Given the description of an element on the screen output the (x, y) to click on. 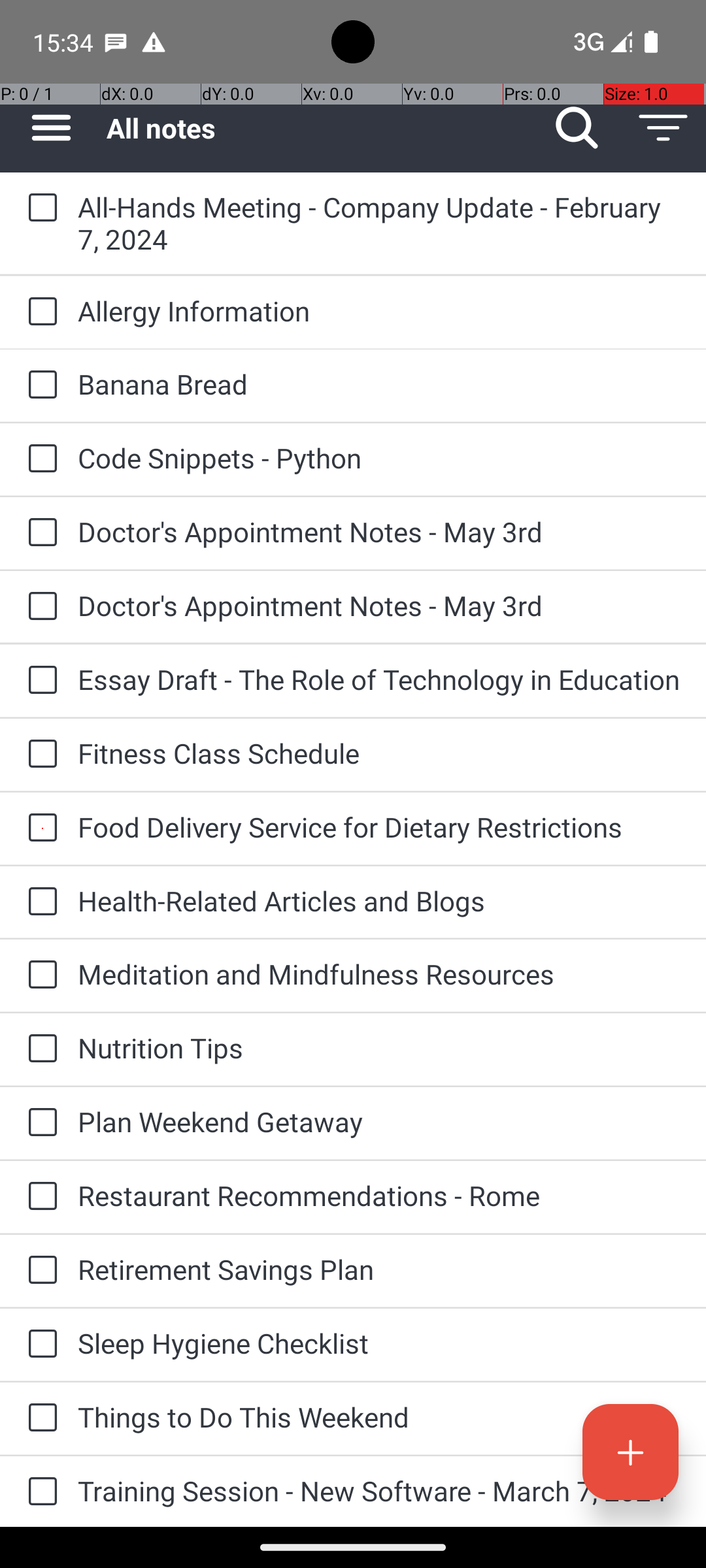
Sidebar Element type: android.widget.Button (44, 127)
All notes Element type: android.widget.TextView (320, 127)
Sort notes by Element type: android.widget.Button (663, 127)
Add new, collapsed Element type: android.widget.Button (630, 1452)
 Element type: android.widget.TextView (51, 127)
 Element type: android.widget.TextView (576, 127)
 Element type: android.widget.TextView (663, 127)
 Element type: android.widget.TextView (630, 1451)
to-do: All-Hands Meeting - Company Update - February 7, 2024 Element type: android.widget.CheckBox (38, 208)
All-Hands Meeting - Company Update - February 7, 2024 Element type: android.widget.TextView (378, 222)
to-do: Allergy Information Element type: android.widget.CheckBox (38, 312)
Allergy Information Element type: android.widget.TextView (378, 310)
to-do: Banana Bread Element type: android.widget.CheckBox (38, 385)
Banana Bread Element type: android.widget.TextView (378, 383)
to-do: Code Snippets - Python Element type: android.widget.CheckBox (38, 459)
Code Snippets - Python Element type: android.widget.TextView (378, 457)
to-do: Doctor's Appointment Notes - May 3rd Element type: android.widget.CheckBox (38, 533)
Doctor's Appointment Notes - May 3rd Element type: android.widget.TextView (378, 531)
to-do: Essay Draft - The Role of Technology in Education Element type: android.widget.CheckBox (38, 680)
Essay Draft - The Role of Technology in Education Element type: android.widget.TextView (378, 678)
to-do: Fitness Class Schedule Element type: android.widget.CheckBox (38, 754)
Fitness Class Schedule Element type: android.widget.TextView (378, 752)
to-do: Food Delivery Service for Dietary Restrictions Element type: android.widget.CheckBox (38, 828)
Food Delivery Service for Dietary Restrictions Element type: android.widget.TextView (378, 826)
to-do: Health-Related Articles and Blogs Element type: android.widget.CheckBox (38, 902)
Health-Related Articles and Blogs Element type: android.widget.TextView (378, 900)
to-do: Meditation and Mindfulness Resources Element type: android.widget.CheckBox (38, 975)
Meditation and Mindfulness Resources Element type: android.widget.TextView (378, 973)
to-do: Nutrition Tips Element type: android.widget.CheckBox (38, 1049)
Nutrition Tips Element type: android.widget.TextView (378, 1047)
to-do: Plan Weekend Getaway Element type: android.widget.CheckBox (38, 1123)
Plan Weekend Getaway Element type: android.widget.TextView (378, 1121)
to-do: Restaurant Recommendations - Rome Element type: android.widget.CheckBox (38, 1196)
Restaurant Recommendations - Rome Element type: android.widget.TextView (378, 1194)
to-do: Retirement Savings Plan Element type: android.widget.CheckBox (38, 1270)
Retirement Savings Plan Element type: android.widget.TextView (378, 1268)
to-do: Sleep Hygiene Checklist Element type: android.widget.CheckBox (38, 1344)
Sleep Hygiene Checklist Element type: android.widget.TextView (378, 1342)
to-do: Things to Do This Weekend Element type: android.widget.CheckBox (38, 1418)
Things to Do This Weekend Element type: android.widget.TextView (378, 1416)
to-do: Training Session - New Software - March 7, 2024 Element type: android.widget.CheckBox (38, 1491)
Training Session - New Software - March 7, 2024 Element type: android.widget.TextView (378, 1490)
